Given the description of an element on the screen output the (x, y) to click on. 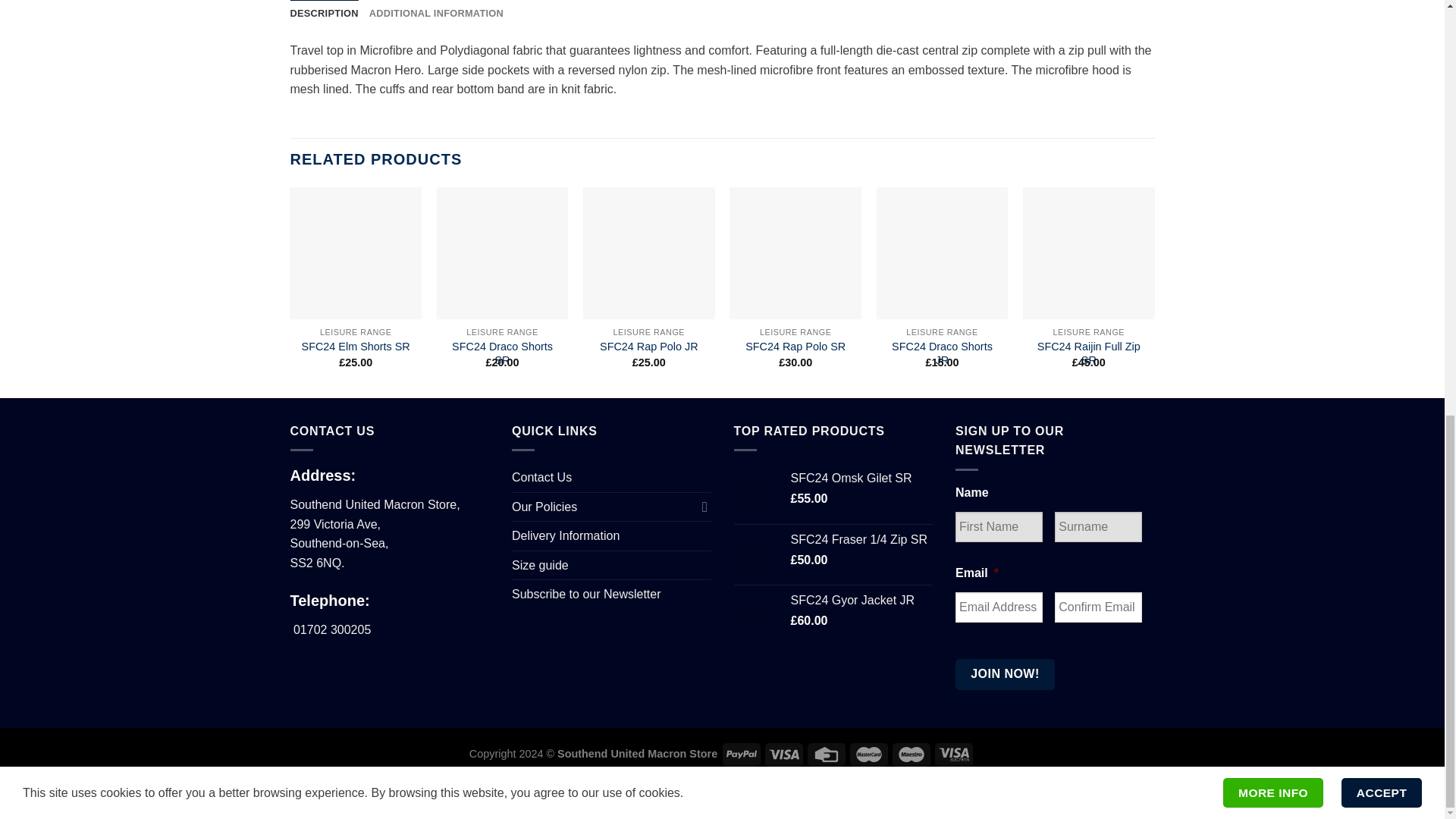
Join Now! (1004, 674)
